Given the description of an element on the screen output the (x, y) to click on. 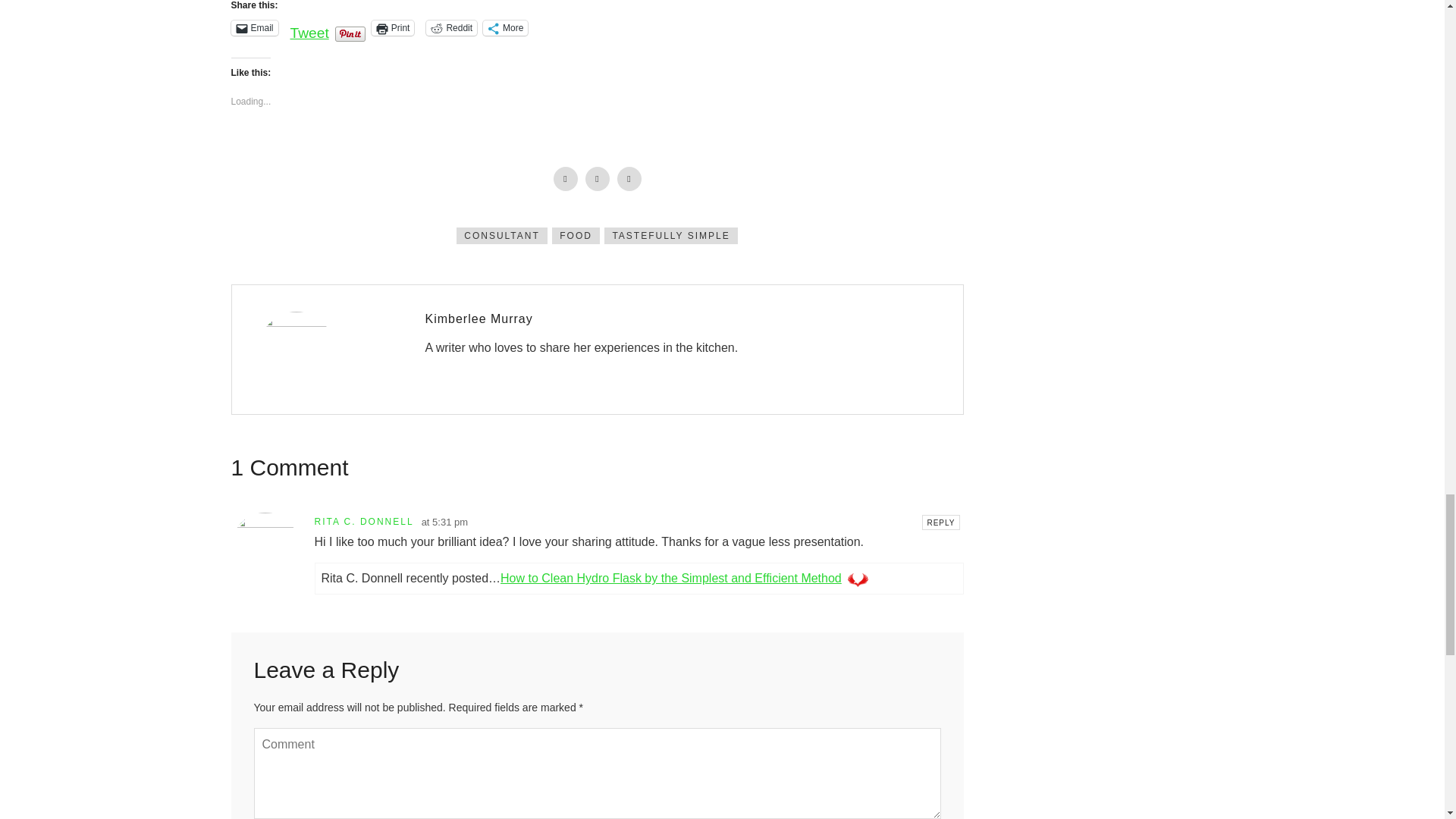
CONSULTANT (502, 235)
Click to email a link to a friend (254, 28)
Reddit (451, 28)
Click to share on Reddit (451, 28)
Tweet (309, 27)
Print (392, 28)
Email (254, 28)
More (505, 28)
Click to print (392, 28)
